Given the description of an element on the screen output the (x, y) to click on. 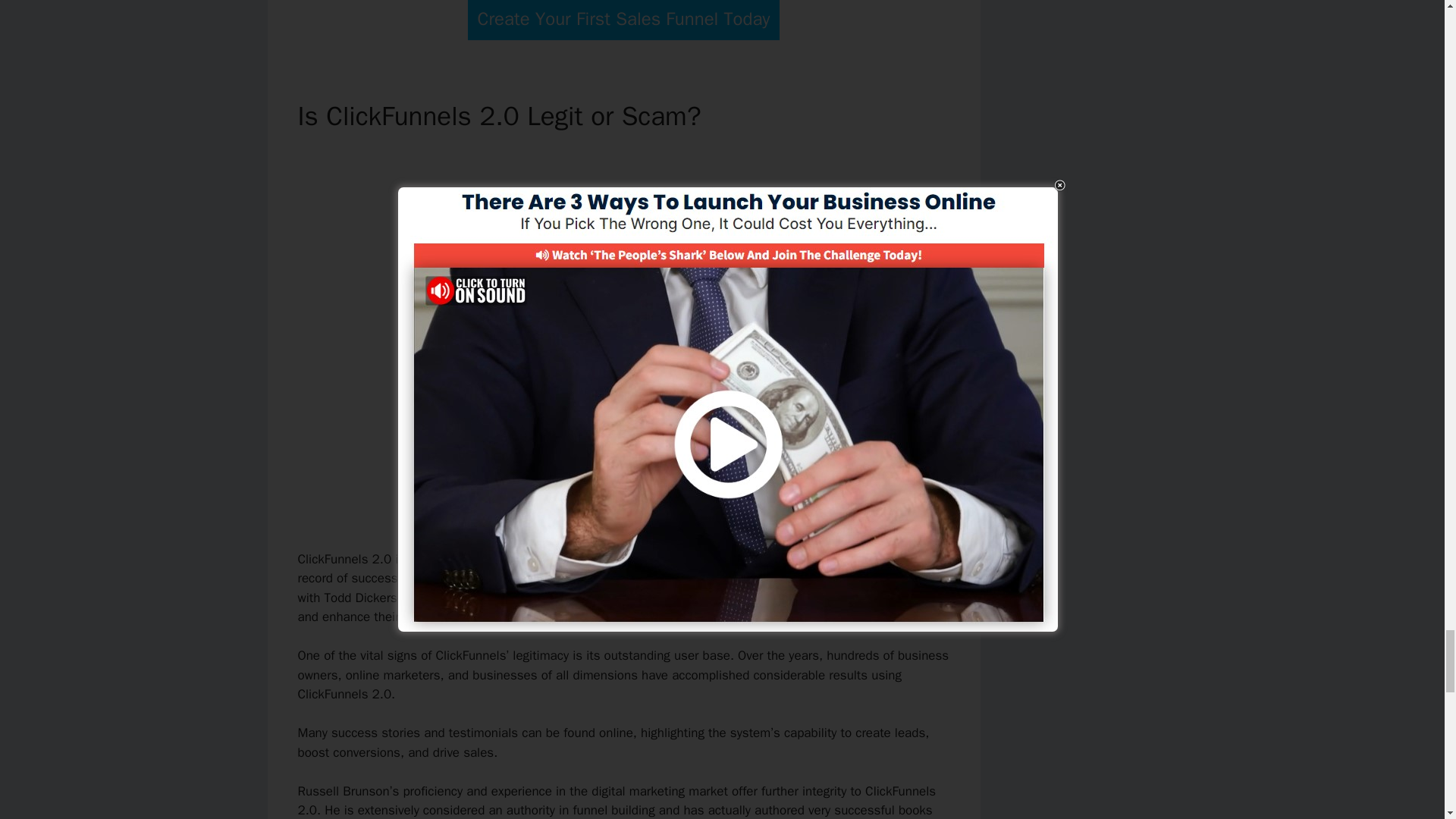
Create Your First Sales Funnel Today (623, 20)
